Given the description of an element on the screen output the (x, y) to click on. 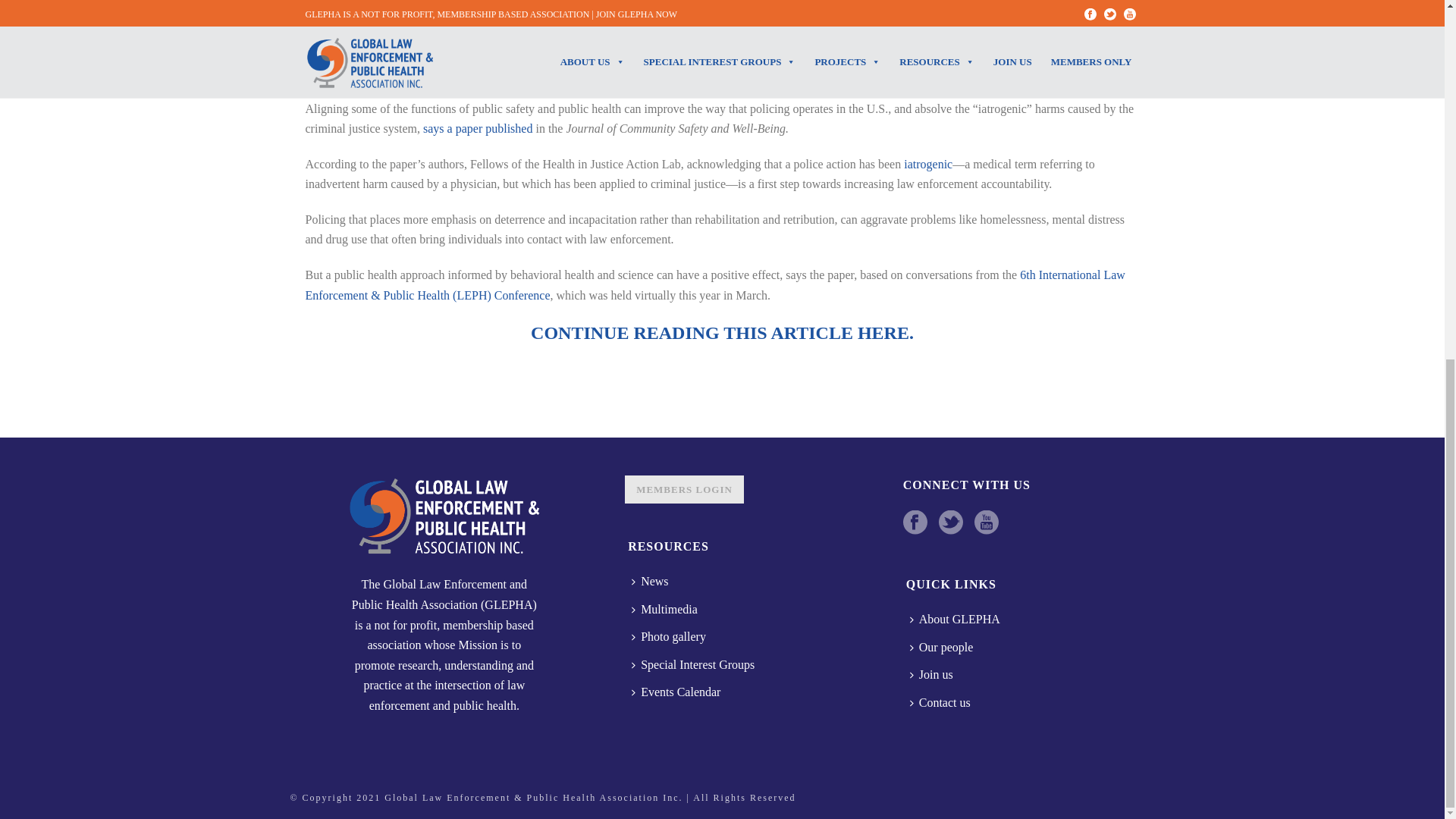
 youtube (986, 523)
Members Login (684, 489)
 twitter (950, 523)
 facebook (914, 523)
Members Login (684, 489)
